Given the description of an element on the screen output the (x, y) to click on. 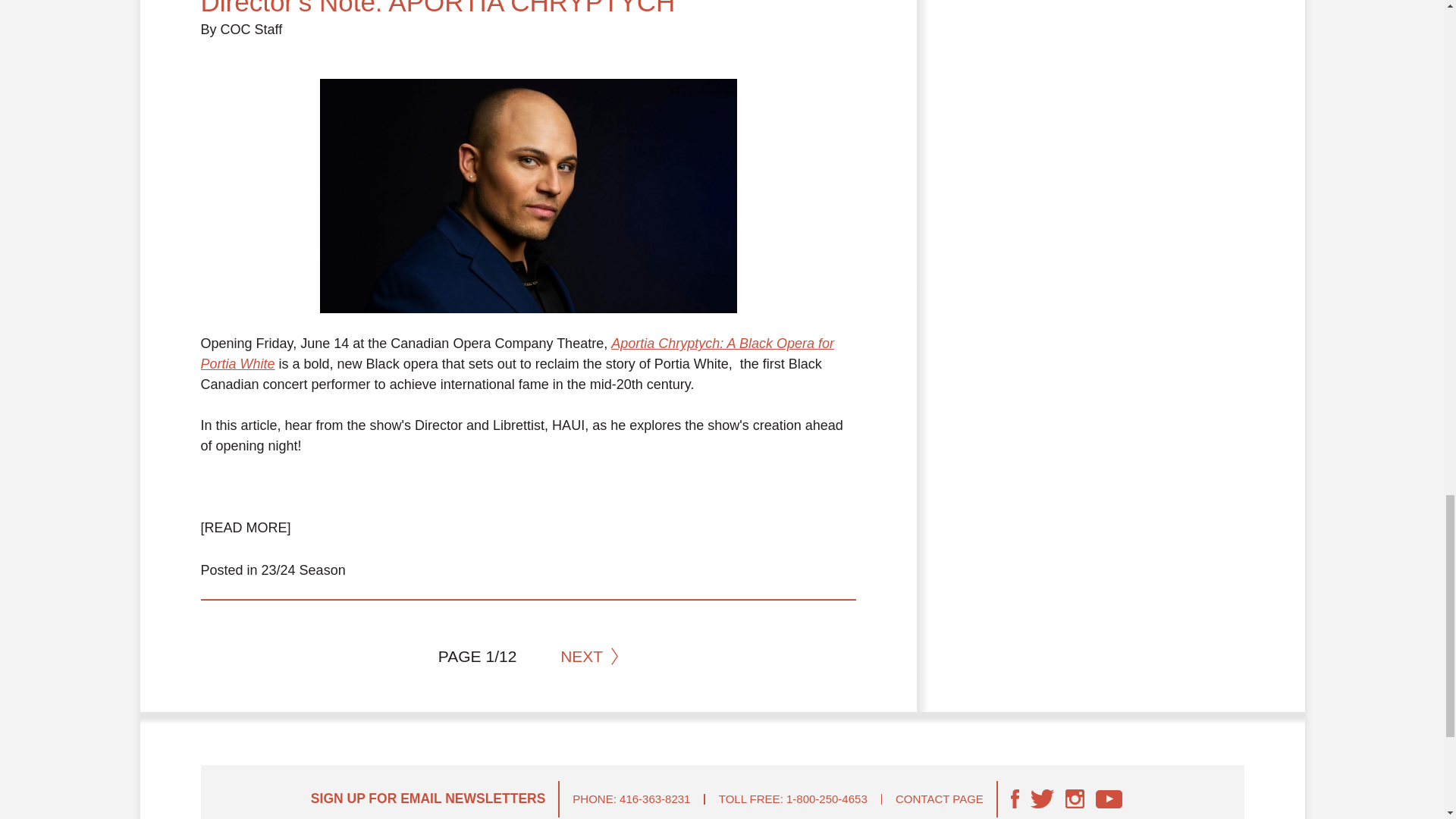
Aportia Chryptych: A Black Opera for Portia White (516, 353)
NEXT (588, 656)
